Given the description of an element on the screen output the (x, y) to click on. 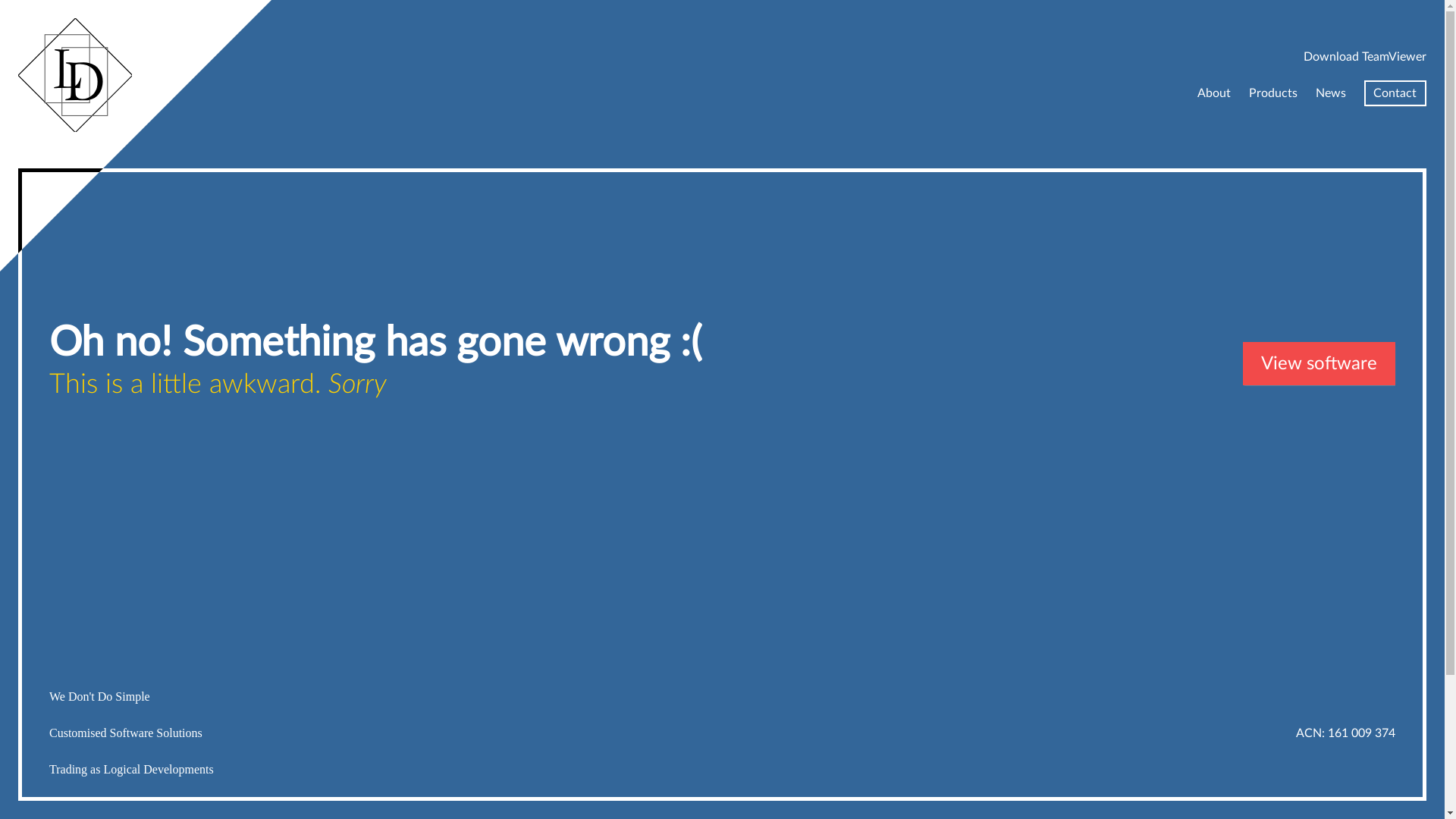
View software Element type: text (1318, 363)
Download TeamViewer Element type: text (1364, 56)
Contact Element type: text (1395, 93)
Products Element type: text (1272, 93)
News Element type: text (1330, 93)
About Element type: text (1213, 93)
